Given the description of an element on the screen output the (x, y) to click on. 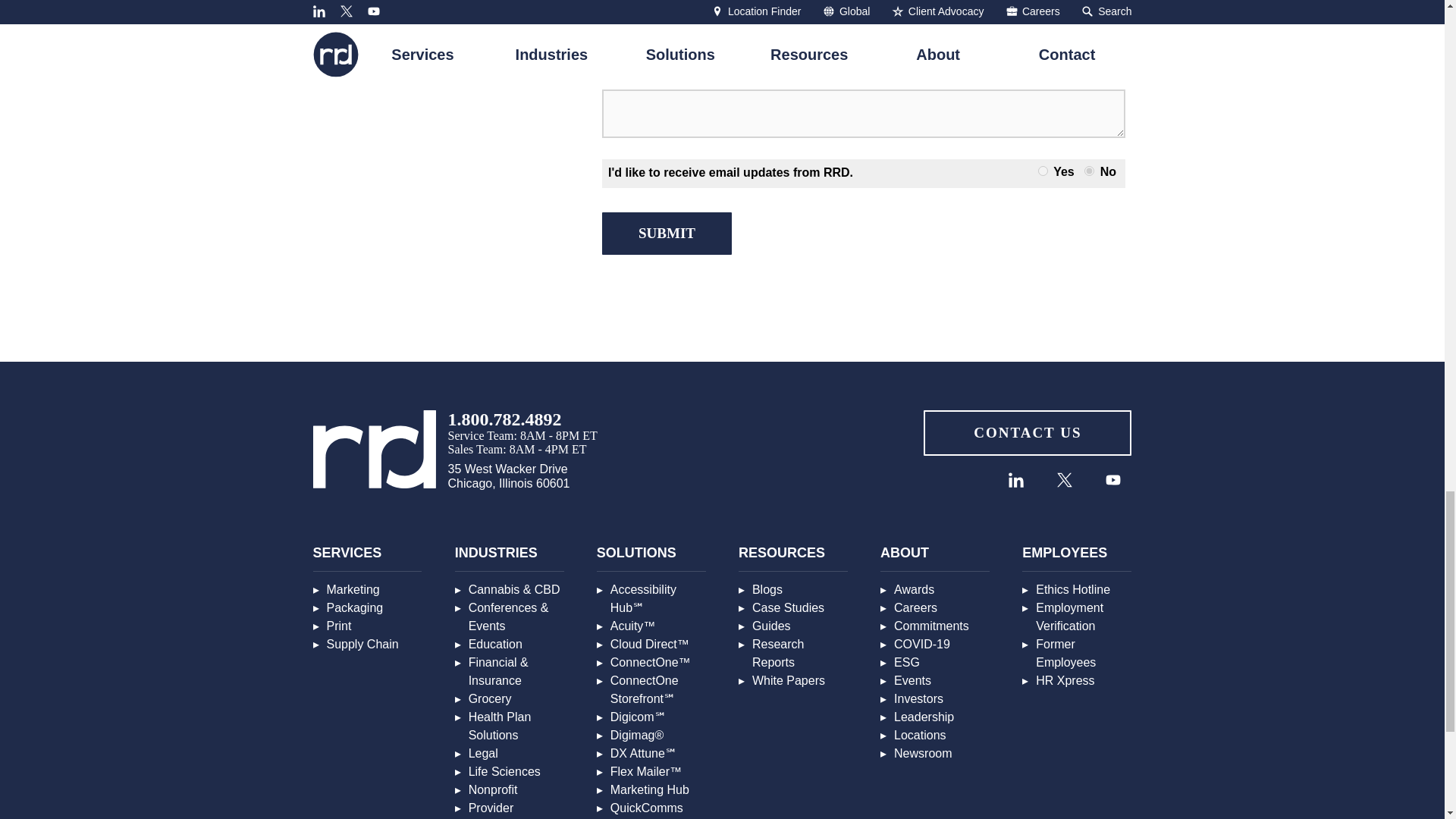
YoutubeYoutube icon for footer (1113, 479)
Twitter (1064, 479)
Youtube (1112, 479)
rrdlogo for footer (374, 449)
TwitterX icon for footer (1064, 479)
LinkedIn (1015, 479)
LinkedInLinkedIn icon for footer (1016, 479)
